Given the description of an element on the screen output the (x, y) to click on. 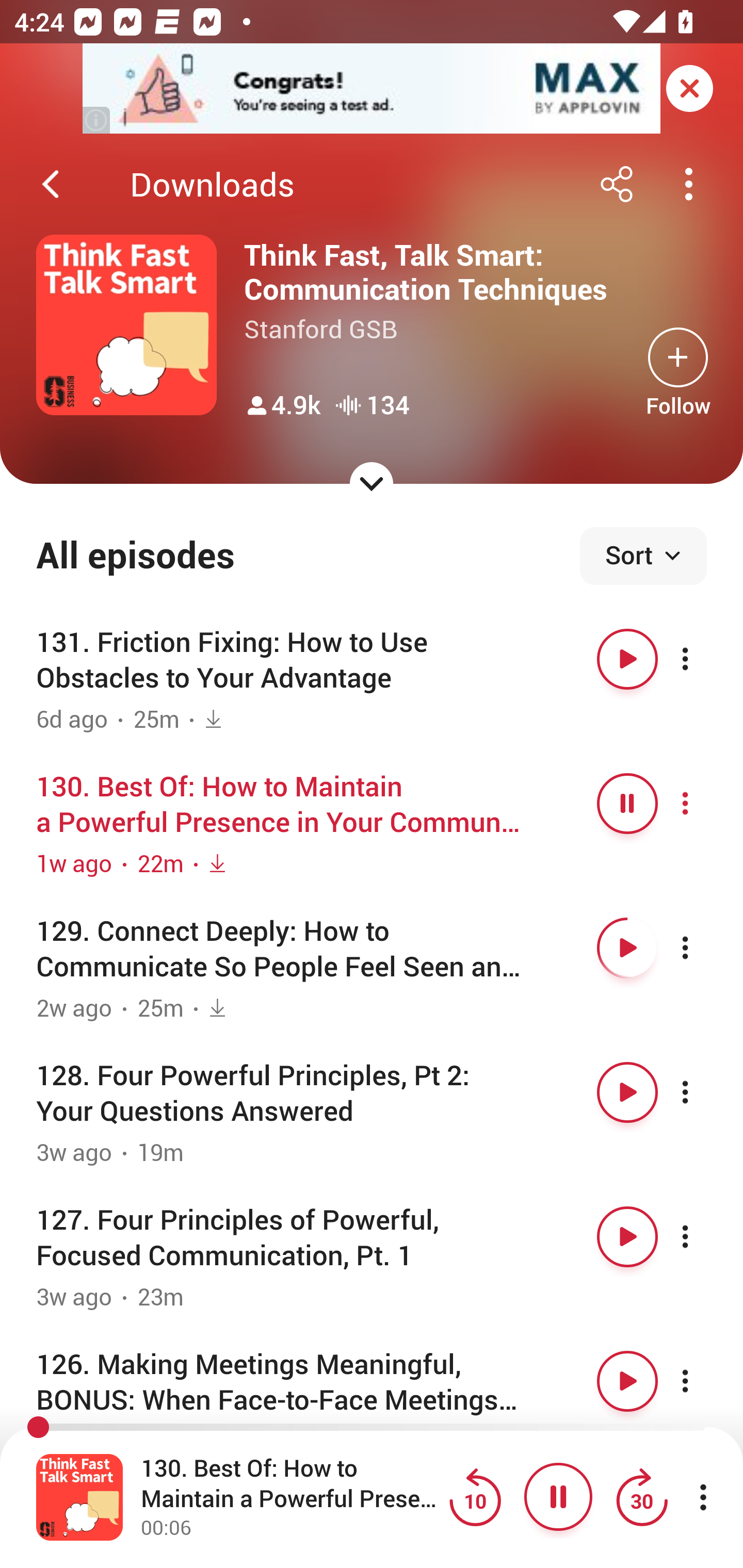
app-monetization (371, 88)
(i) (96, 119)
Back (50, 184)
Subscribe button (677, 357)
Sort episodes Sort (643, 555)
Play button (627, 659)
More options (703, 659)
Pause button (627, 803)
More options (703, 803)
Play button (627, 947)
More options (703, 947)
Play button (627, 1092)
More options (703, 1092)
Play button (627, 1236)
More options (703, 1236)
Play button (627, 1381)
More options (703, 1381)
Open fullscreen player (79, 1497)
More player controls (703, 1497)
Pause button (558, 1496)
Jump back (475, 1497)
Jump forward (641, 1497)
